Given the description of an element on the screen output the (x, y) to click on. 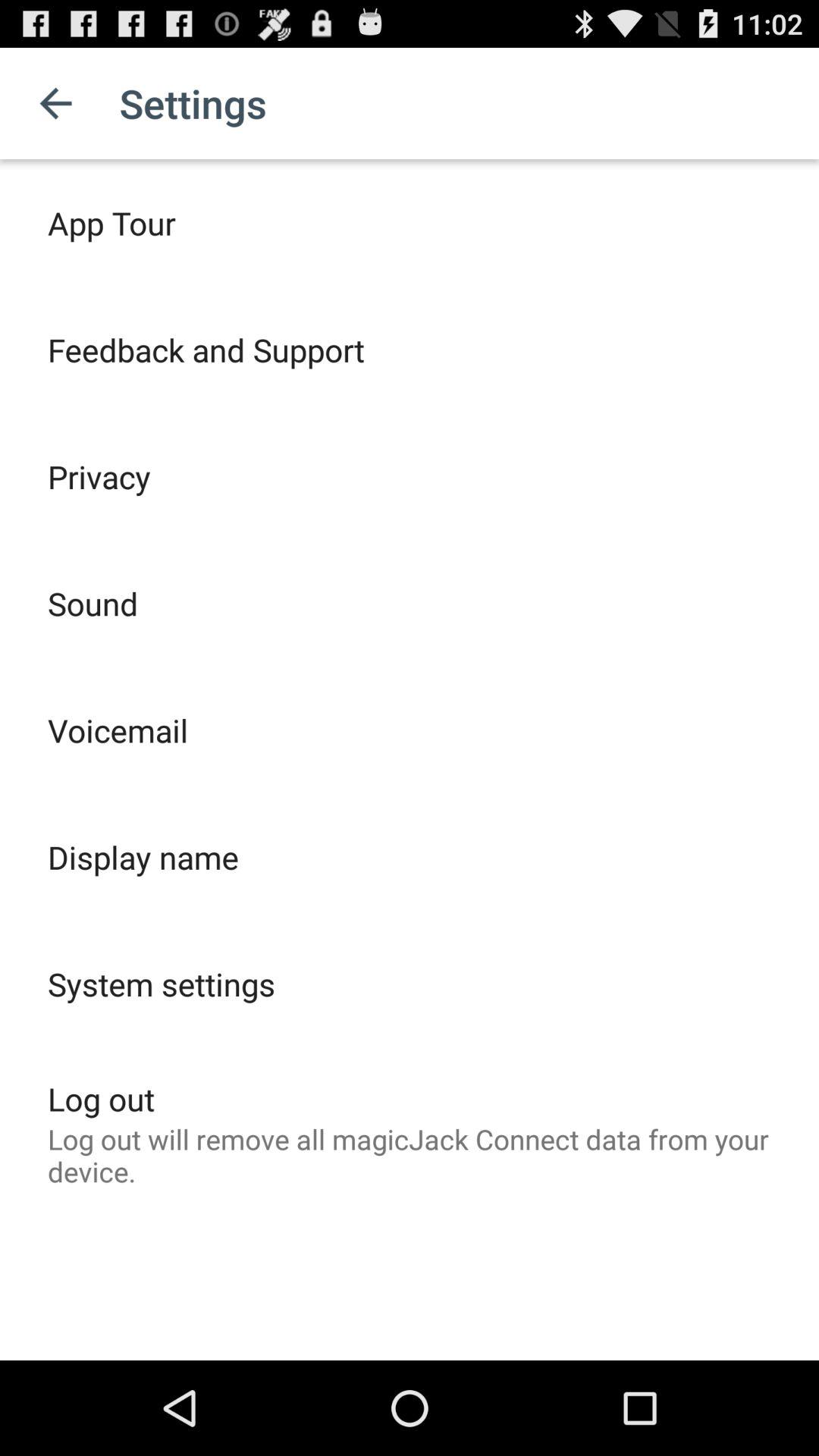
swipe to the voicemail item (117, 729)
